Given the description of an element on the screen output the (x, y) to click on. 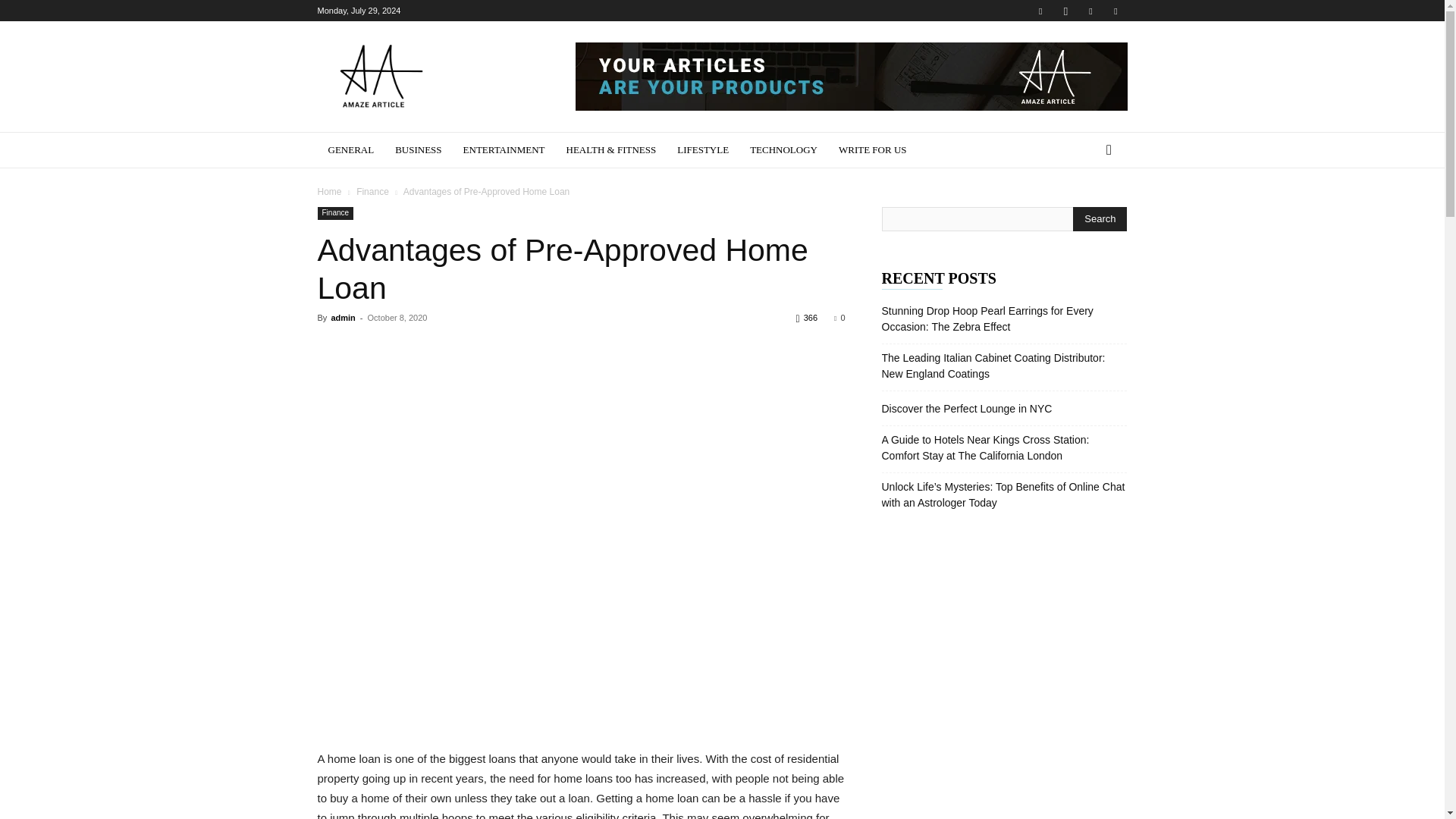
Facebook (1040, 10)
GENERAL (350, 149)
Search (1099, 218)
Instagram (1065, 10)
View all posts in Finance (372, 191)
Twitter (1114, 10)
Pinterest (1090, 10)
